Given the description of an element on the screen output the (x, y) to click on. 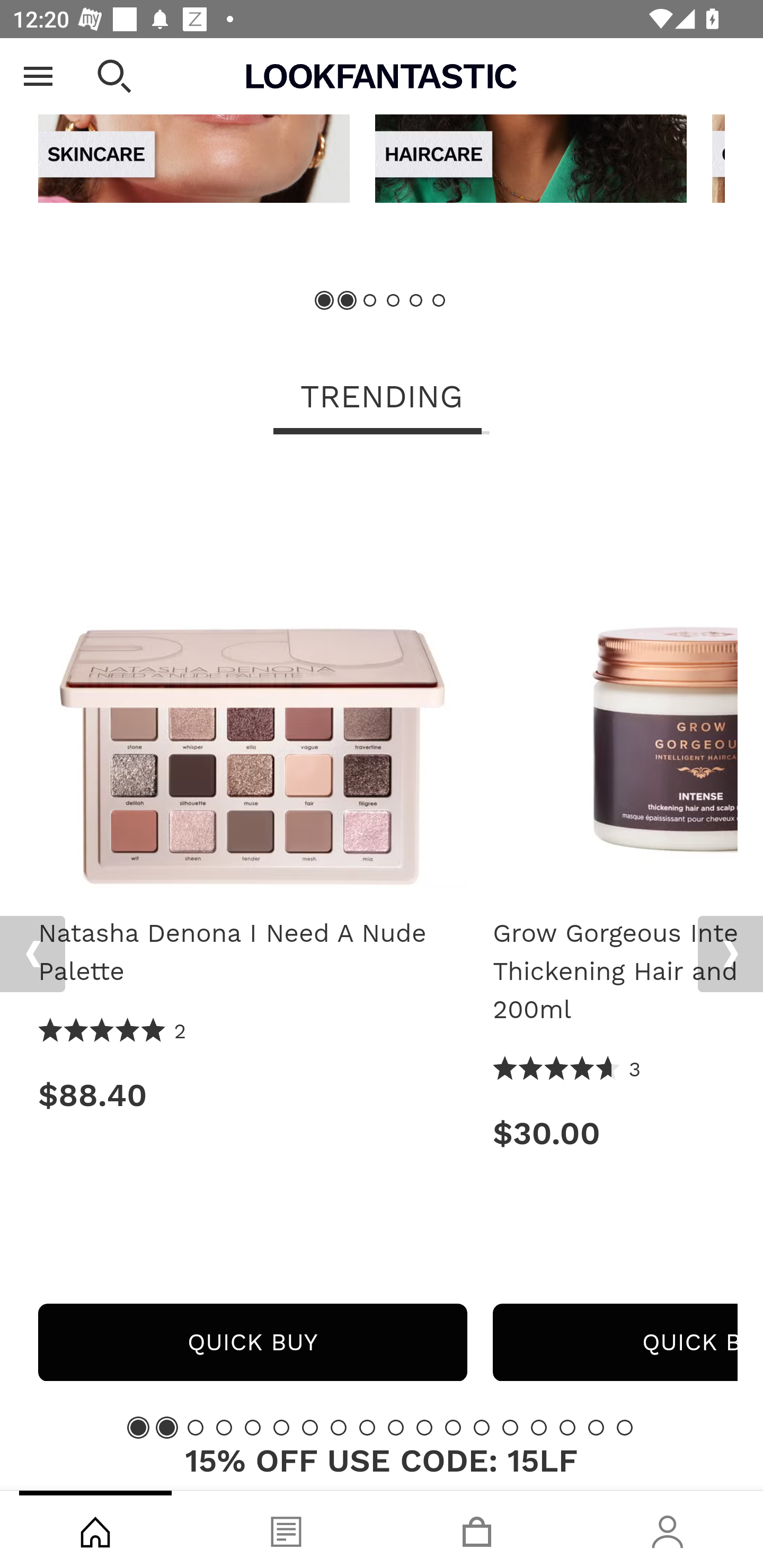
Previous (35, 73)
Showing Slide 1 (Current Item) (324, 301)
Showing Slide 2 (Current Item) (347, 301)
Slide 3 (369, 301)
Slide 4 (393, 301)
Slide 5 (415, 301)
Slide 6 (437, 301)
TRENDING (381, 398)
Natasha Denona I Need A Nude Palette (252, 681)
Natasha Denona I Need A Nude Palette (252, 674)
Natasha Denona I Need A Nude Palette (252, 953)
Previous (32, 953)
Next (730, 953)
5.0 Stars 2 Reviews (112, 1032)
4.67 Stars 3 Reviews (567, 1069)
Price: $88.40 (252, 1095)
Price: $30.00 (614, 1133)
QUICK BUY NATASHA DENONA I NEED A NUDE PALETTE (252, 1342)
Showing Slide 1 (Current Item) (138, 1427)
Showing Slide 2 (Current Item) (166, 1427)
Slide 3 (195, 1427)
Slide 4 (223, 1427)
Slide 5 (252, 1427)
Slide 6 (281, 1427)
Slide 7 (310, 1427)
Slide 8 (338, 1427)
Slide 9 (367, 1427)
Slide 10 (395, 1427)
Slide 11 (424, 1427)
Slide 12 (452, 1427)
Slide 13 (481, 1427)
Slide 14 (510, 1427)
Slide 15 (539, 1427)
Slide 16 (567, 1427)
Slide 17 (596, 1427)
Slide 18 (624, 1427)
Shop, tab, 1 of 4 (95, 1529)
Blog, tab, 2 of 4 (285, 1529)
Basket, tab, 3 of 4 (476, 1529)
Account, tab, 4 of 4 (667, 1529)
